Given the description of an element on the screen output the (x, y) to click on. 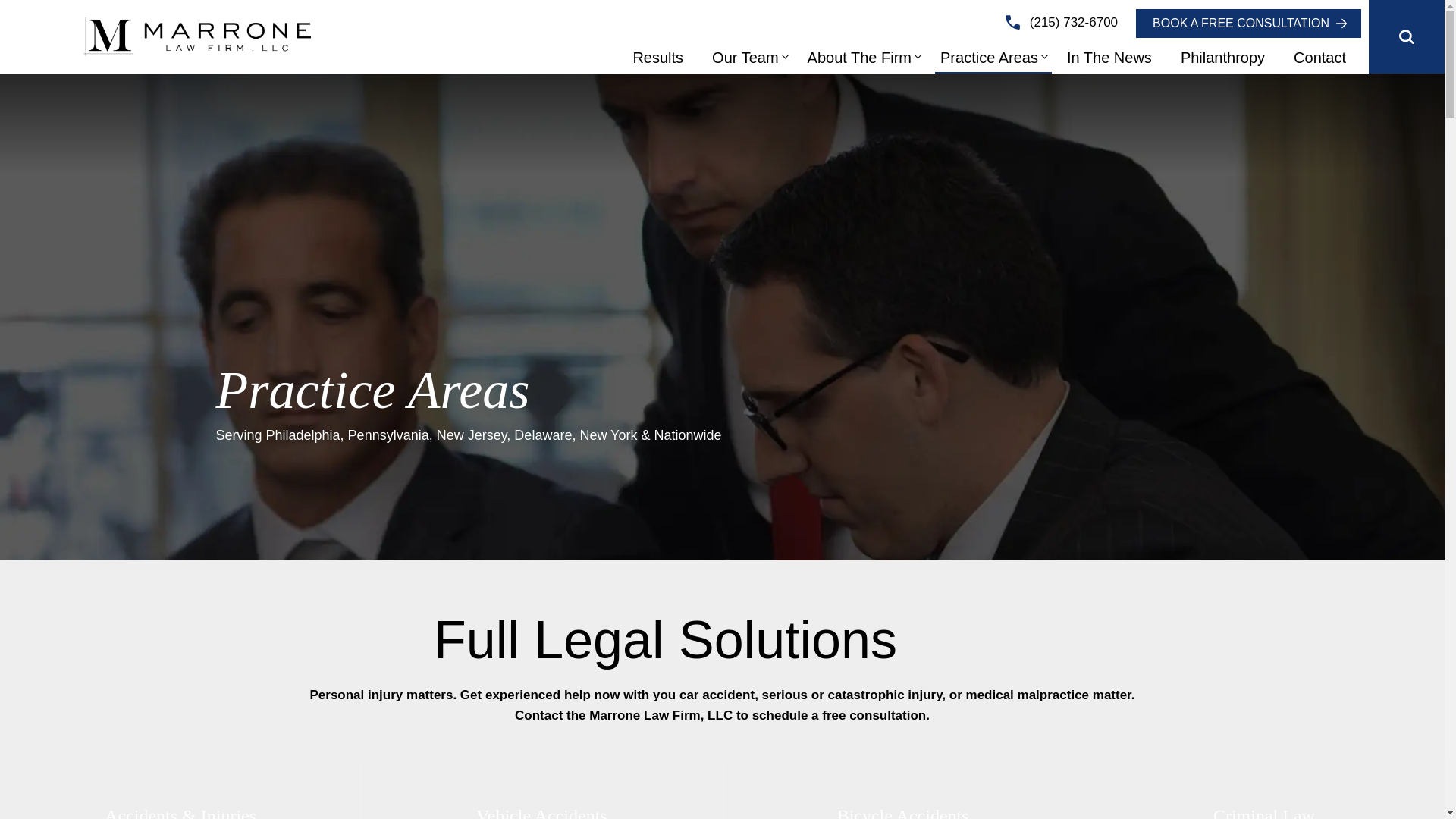
Practice Areas (989, 57)
About The Firm (859, 57)
Results (657, 57)
BOOK A FREE CONSULTATION (1248, 23)
Our Team (744, 57)
